Given the description of an element on the screen output the (x, y) to click on. 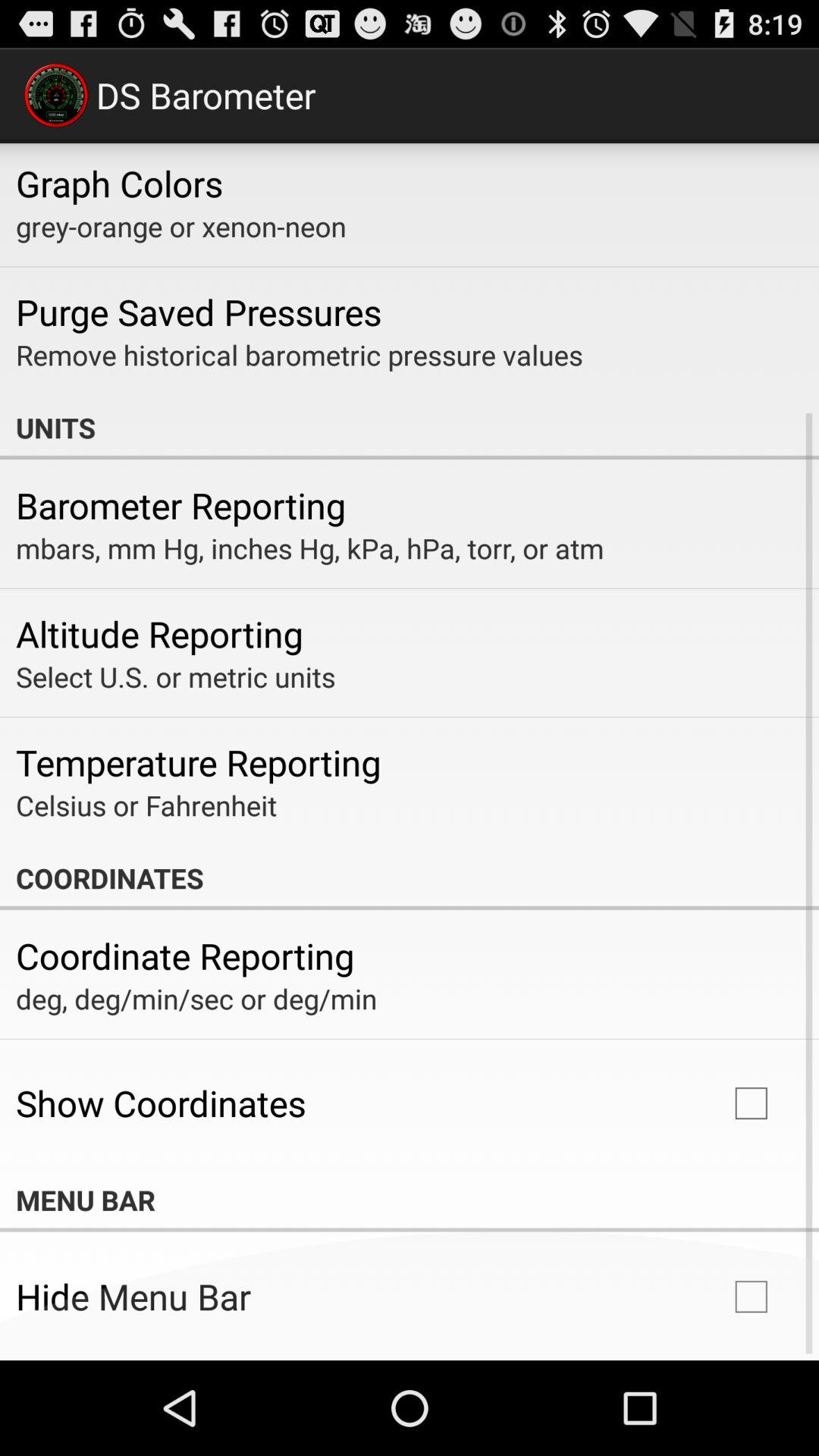
select remove historical barometric (298, 354)
